Given the description of an element on the screen output the (x, y) to click on. 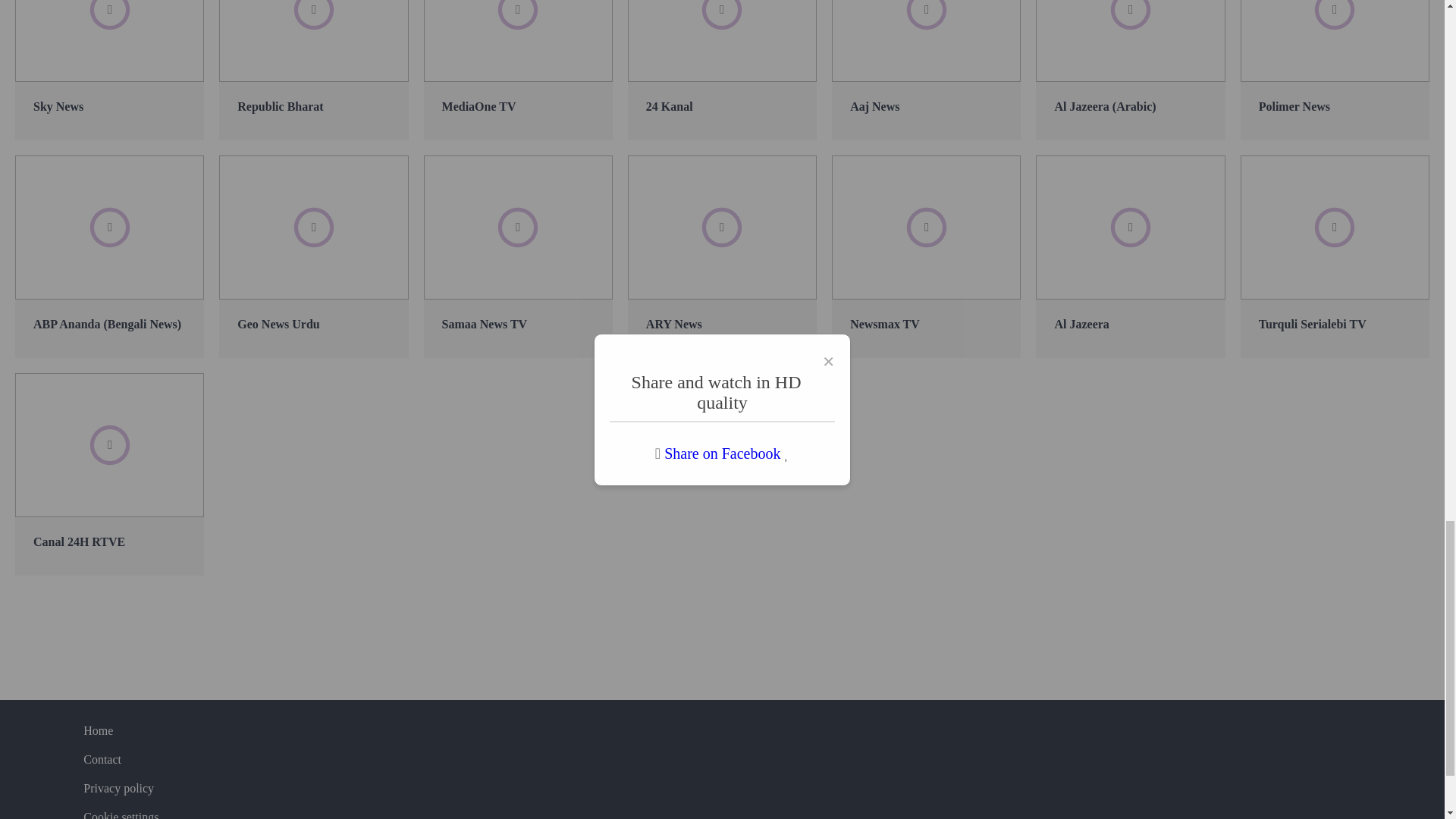
Samaa News TV (517, 256)
Newsmax TV (925, 256)
Turquli Serialebi TV (1334, 256)
Cookie settings (120, 814)
Al Jazeera (1129, 256)
Privacy policy (118, 788)
Aaj News (925, 70)
24 Kanal (721, 70)
ARY News (721, 256)
Canal 24H RTVE (108, 474)
Republic Bharat (313, 70)
Sky News (108, 70)
Contact (101, 759)
MediaOne TV (517, 70)
Geo News Urdu (313, 256)
